Given the description of an element on the screen output the (x, y) to click on. 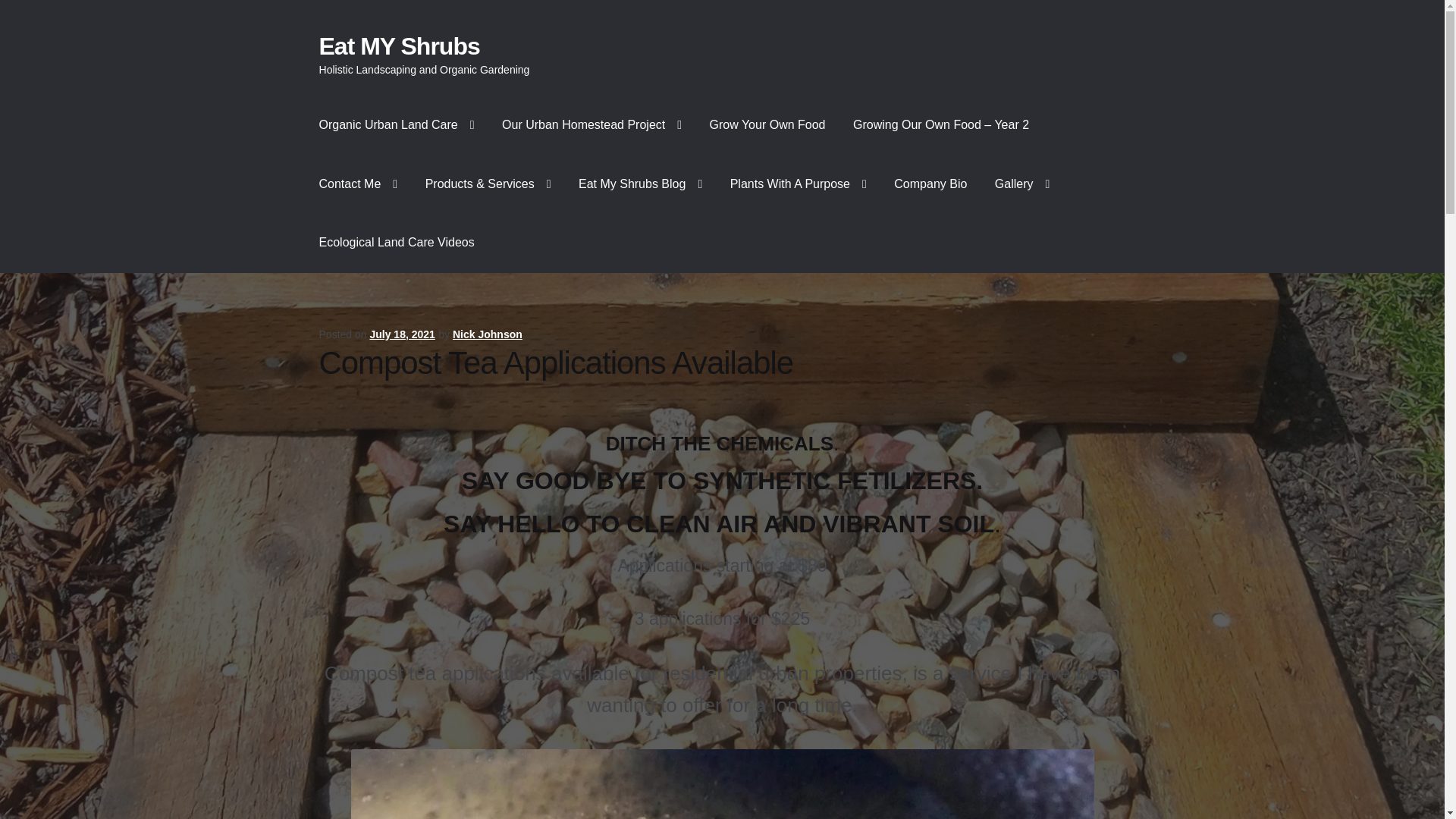
Organic Urban Land Care (396, 124)
Organic Urban Land Care Redesign (591, 124)
Eat MY Shrubs (399, 45)
